Given the description of an element on the screen output the (x, y) to click on. 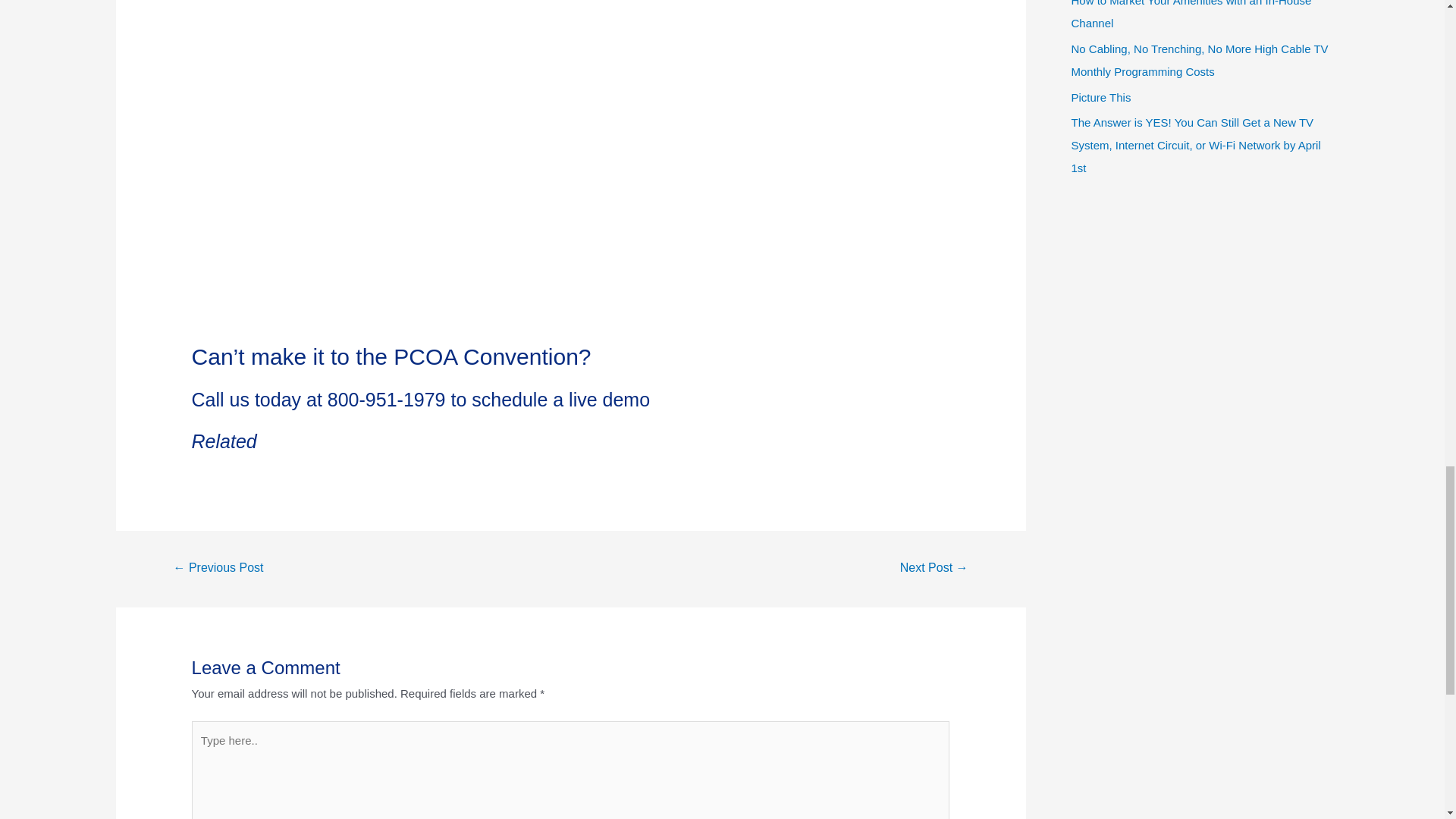
How to Market Your Amenities with an In-House Channel (1190, 14)
Picture This (1100, 97)
